Given the description of an element on the screen output the (x, y) to click on. 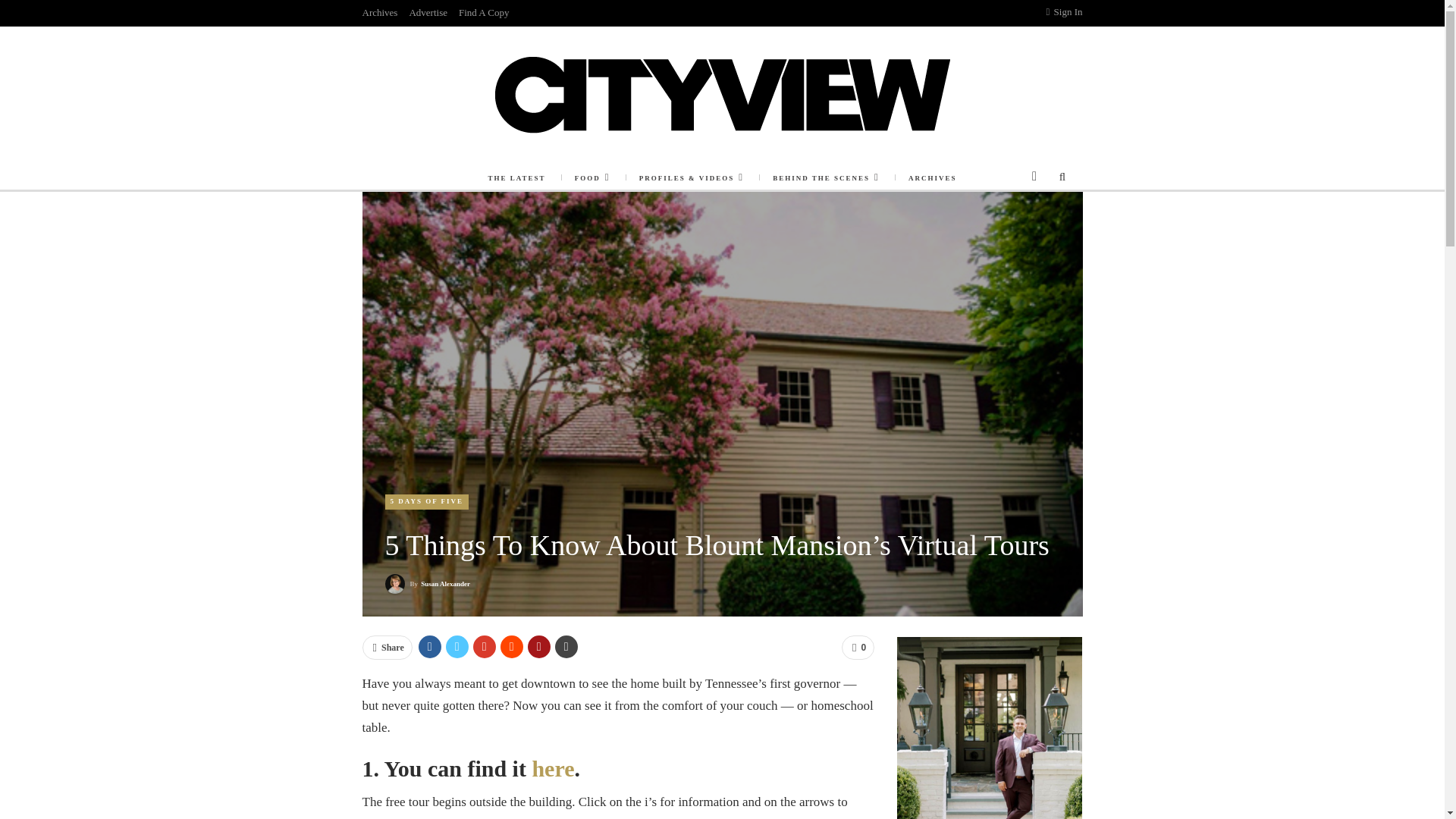
Archives (379, 12)
Sign In (1064, 12)
Browse Author Articles (427, 583)
5 DAYS OF FIVE (426, 501)
Find A Copy (483, 12)
FOOD (592, 177)
BEHIND THE SCENES (826, 177)
THE LATEST (515, 177)
0 (858, 647)
Advertise (427, 12)
